Given the description of an element on the screen output the (x, y) to click on. 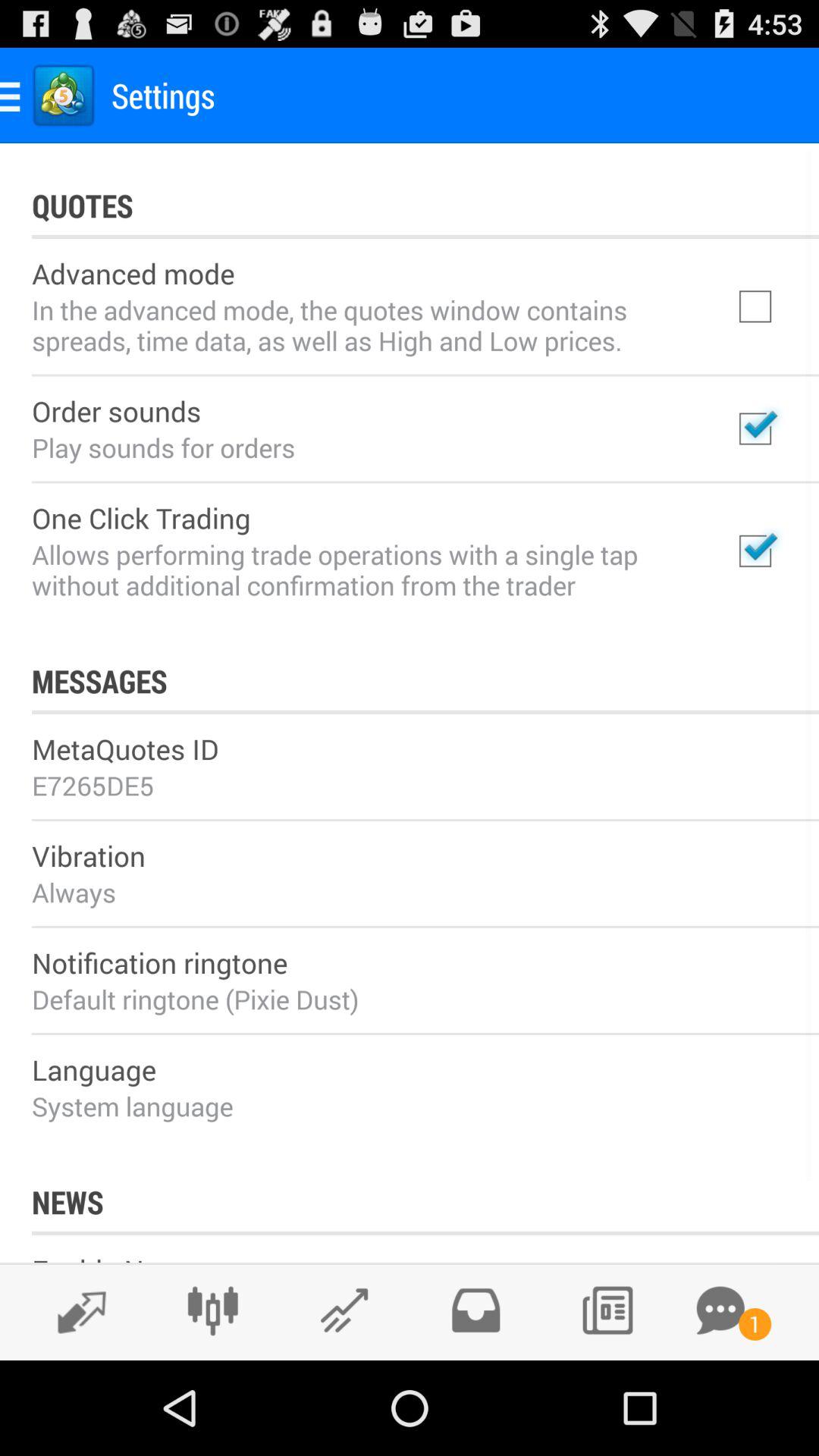
open phonebook (606, 1310)
